Given the description of an element on the screen output the (x, y) to click on. 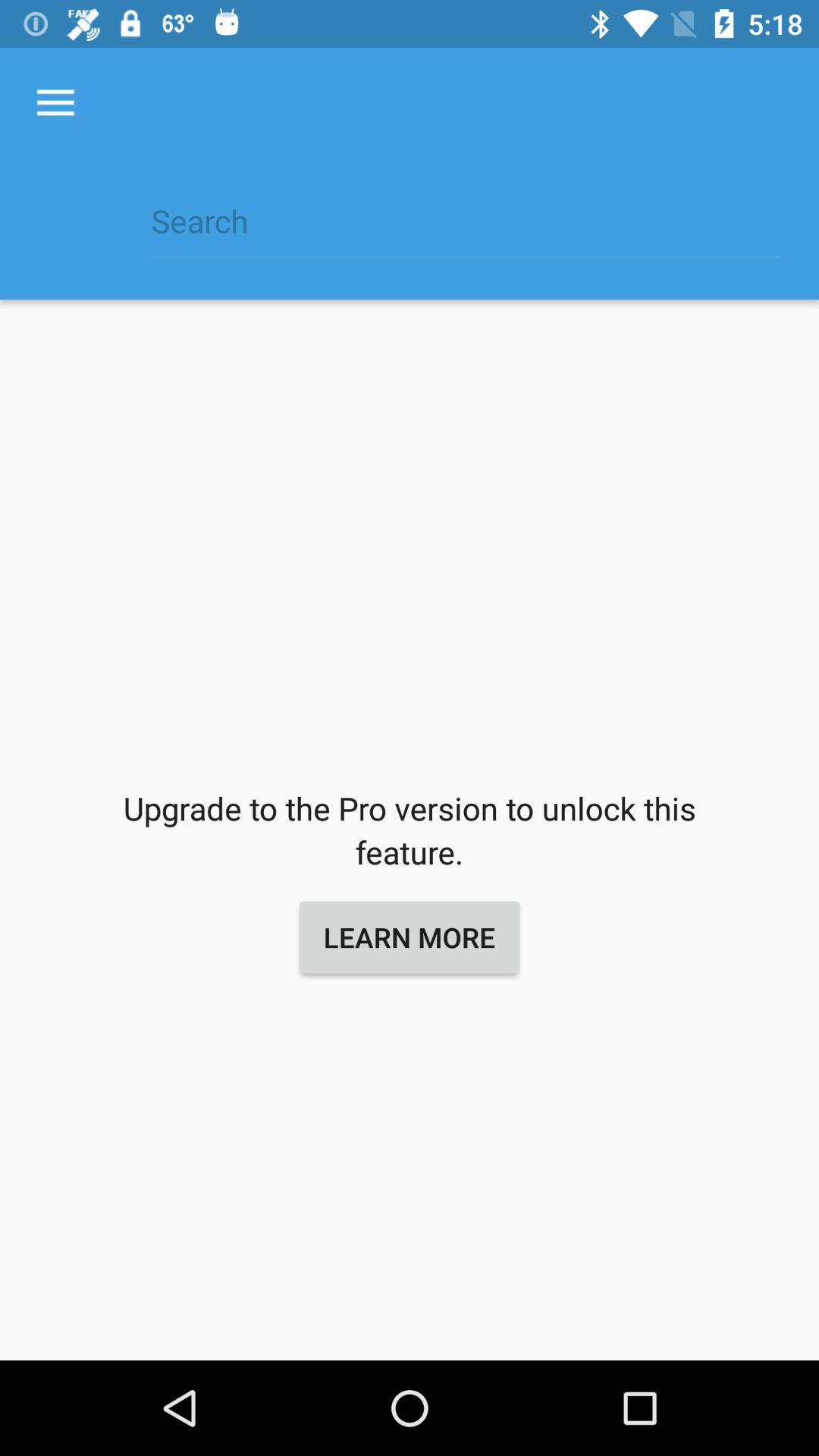
select icon above the upgrade to the (465, 229)
